Given the description of an element on the screen output the (x, y) to click on. 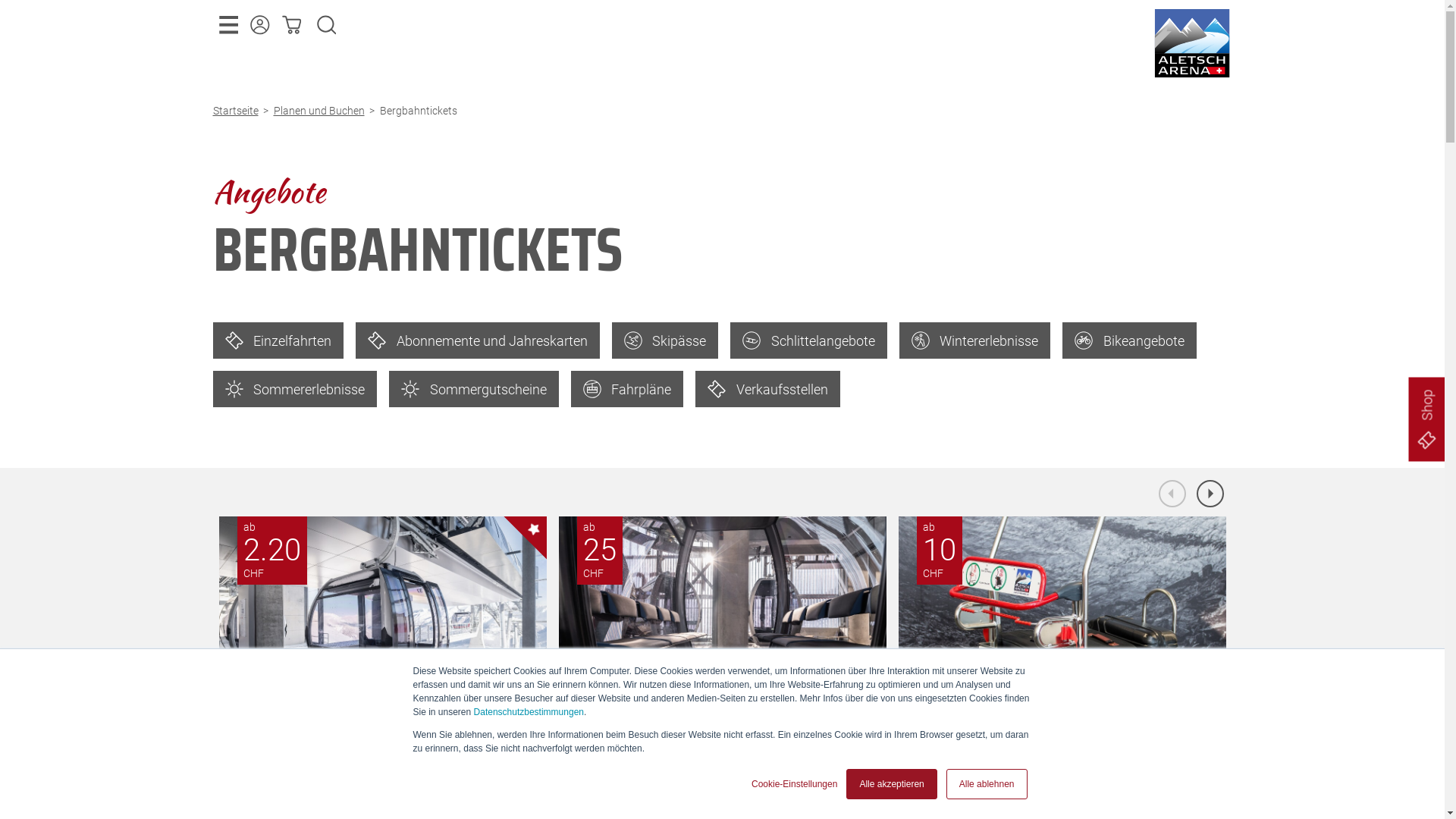
Planen und Buchen Element type: text (321, 110)
Schlittelangebote Element type: text (808, 340)
Sommererlebnisse Element type: text (294, 388)
Einzelfahrten Element type: text (277, 340)
Alle ablehnen Element type: text (986, 783)
Alle akzeptieren Element type: text (891, 783)
Bikeangebote Element type: text (1129, 340)
Datenschutzbestimmungen Element type: text (528, 711)
Weiter Element type: hover (1209, 493)
Abonnemente und Jahreskarten Element type: text (477, 340)
Wintererlebnisse Element type: text (975, 340)
Sommergutscheine Element type: text (473, 388)
Cookie-Einstellungen Element type: text (794, 783)
Suche Element type: hover (326, 24)
Verkaufsstellen Element type: text (767, 388)
Startseite Element type: text (237, 110)
